Given the description of an element on the screen output the (x, y) to click on. 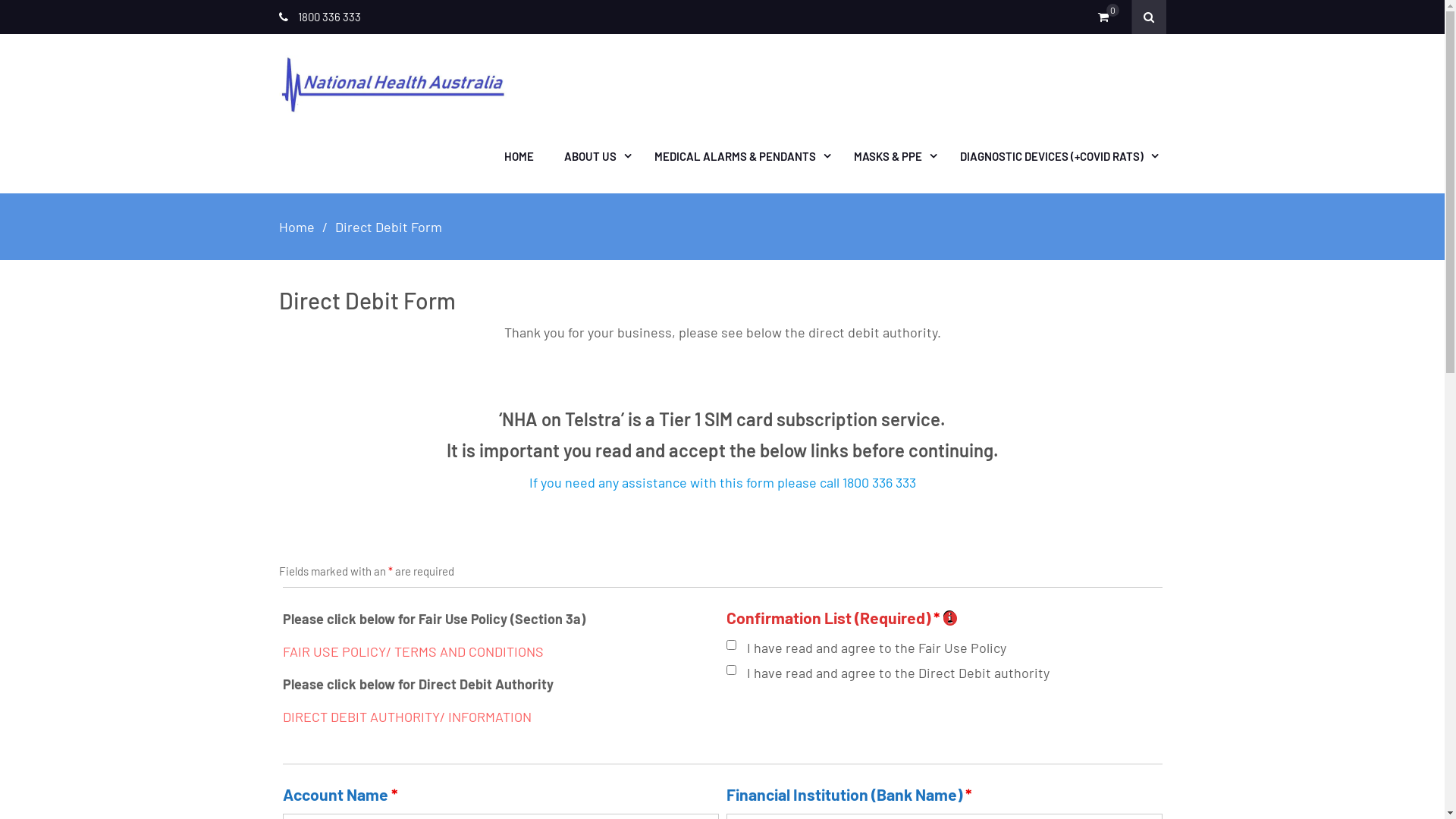
ABOUT US Element type: text (594, 156)
Home Element type: text (296, 226)
0 Element type: text (1107, 16)
MASKS & PPE Element type: text (891, 156)
DIAGNOSTIC DEVICES (+COVID RATS) Element type: text (1055, 156)
HOME Element type: text (518, 156)
FAIR USE POLICY/ TERMS AND CONDITIONS Element type: text (412, 651)
DIRECT DEBIT AUTHORITY/ INFORMATION Element type: text (406, 716)
MEDICAL ALARMS & PENDANTS Element type: text (737, 156)
